Given the description of an element on the screen output the (x, y) to click on. 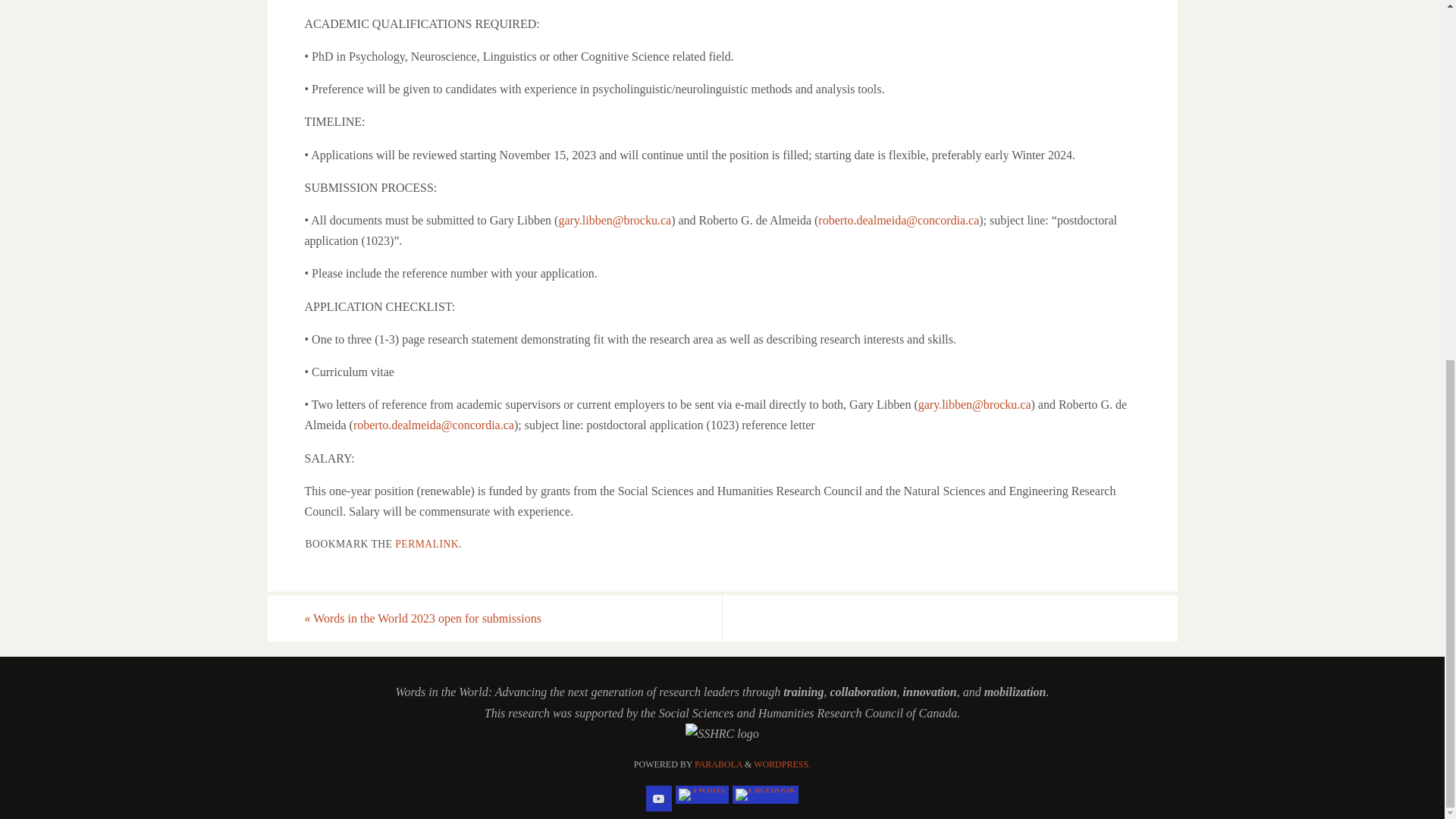
Semantic Personal Publishing Platform (782, 764)
YouTube (658, 798)
Twitter (702, 794)
Parabola Theme by Cryout Creations (718, 764)
Facebook (764, 794)
